Given the description of an element on the screen output the (x, y) to click on. 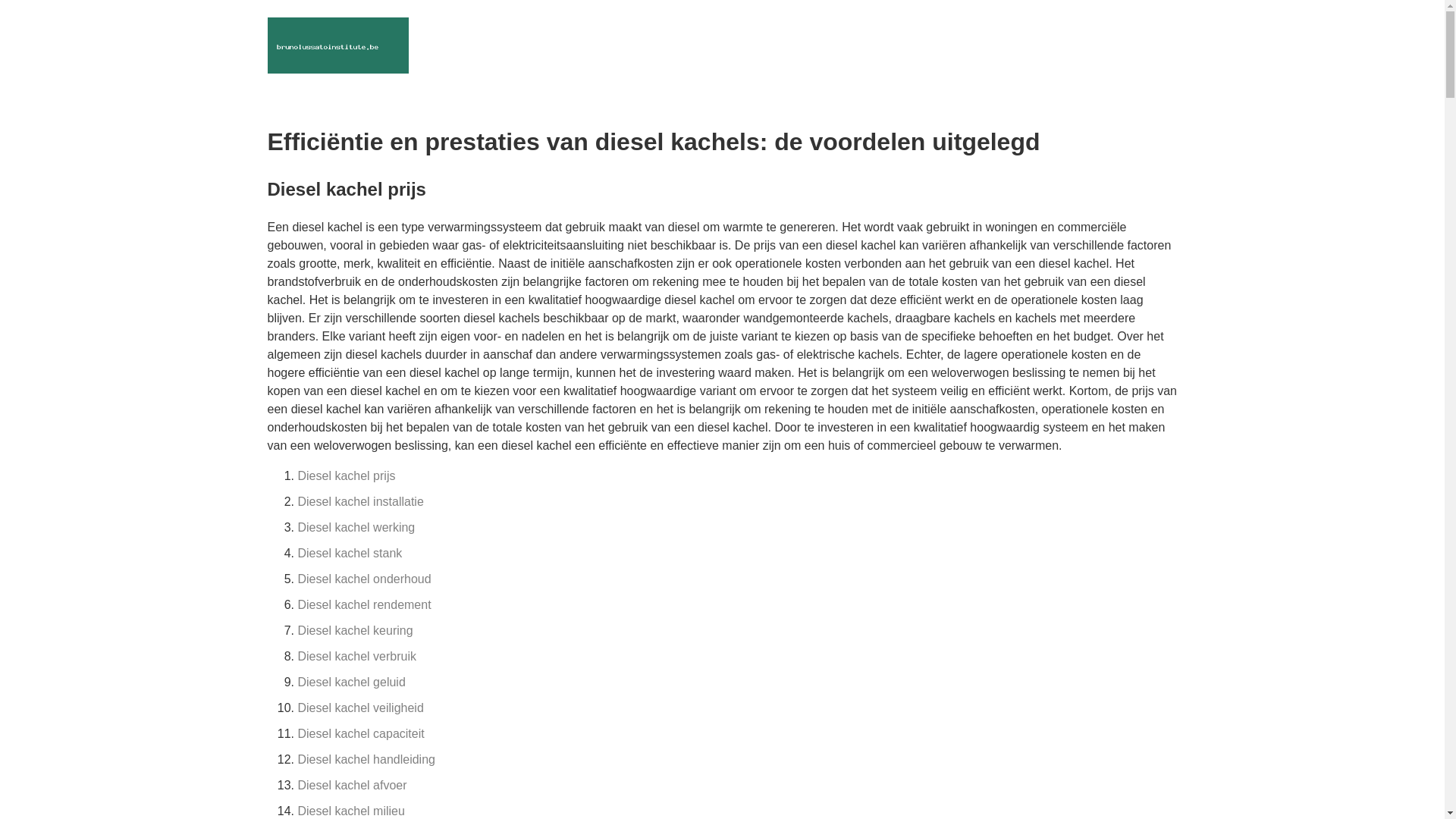
Diesel kachel capaciteit Element type: text (360, 733)
Diesel kachel werking Element type: text (355, 526)
Diesel kachel geluid Element type: text (350, 681)
Diesel kachel veiligheid Element type: text (360, 707)
Diesel kachel installatie Element type: text (360, 501)
Diesel kachel keuring Element type: text (354, 630)
Diesel kachel rendement Element type: text (363, 604)
Diesel kachel onderhoud Element type: text (363, 578)
Diesel kachel verbruik Element type: text (356, 655)
Diesel kachel afvoer Element type: text (351, 784)
Diesel kachel milieu Element type: text (350, 810)
Diesel kachel stank Element type: text (349, 552)
Diesel kachel handleiding Element type: text (365, 759)
Diesel kachel prijs Element type: text (346, 475)
